Given the description of an element on the screen output the (x, y) to click on. 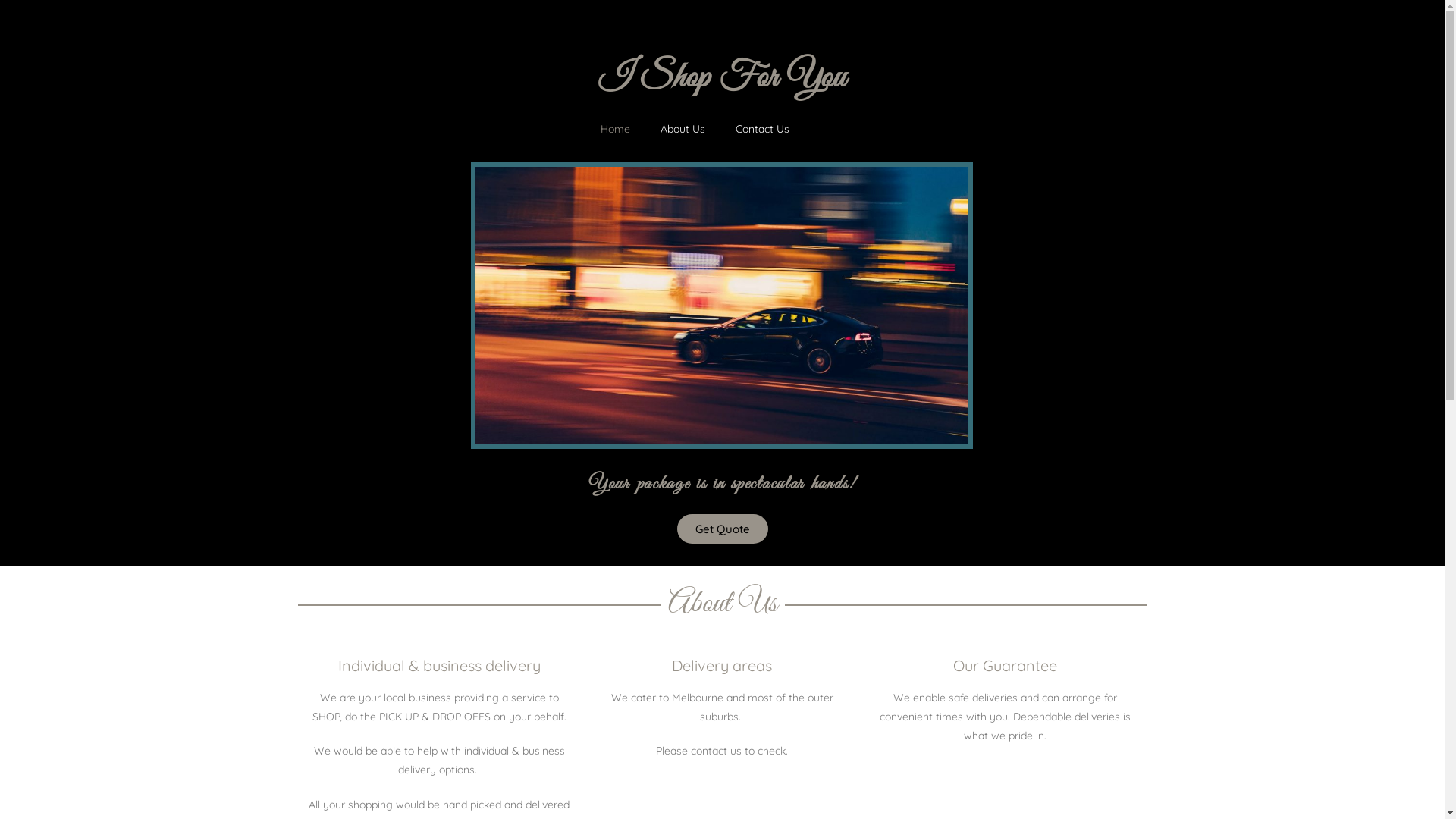
Home Element type: text (615, 128)
Contact Us Element type: text (762, 128)
Get Quote Element type: text (721, 528)
I Shop For You Element type: text (722, 78)
About Us Element type: text (682, 128)
